Given the description of an element on the screen output the (x, y) to click on. 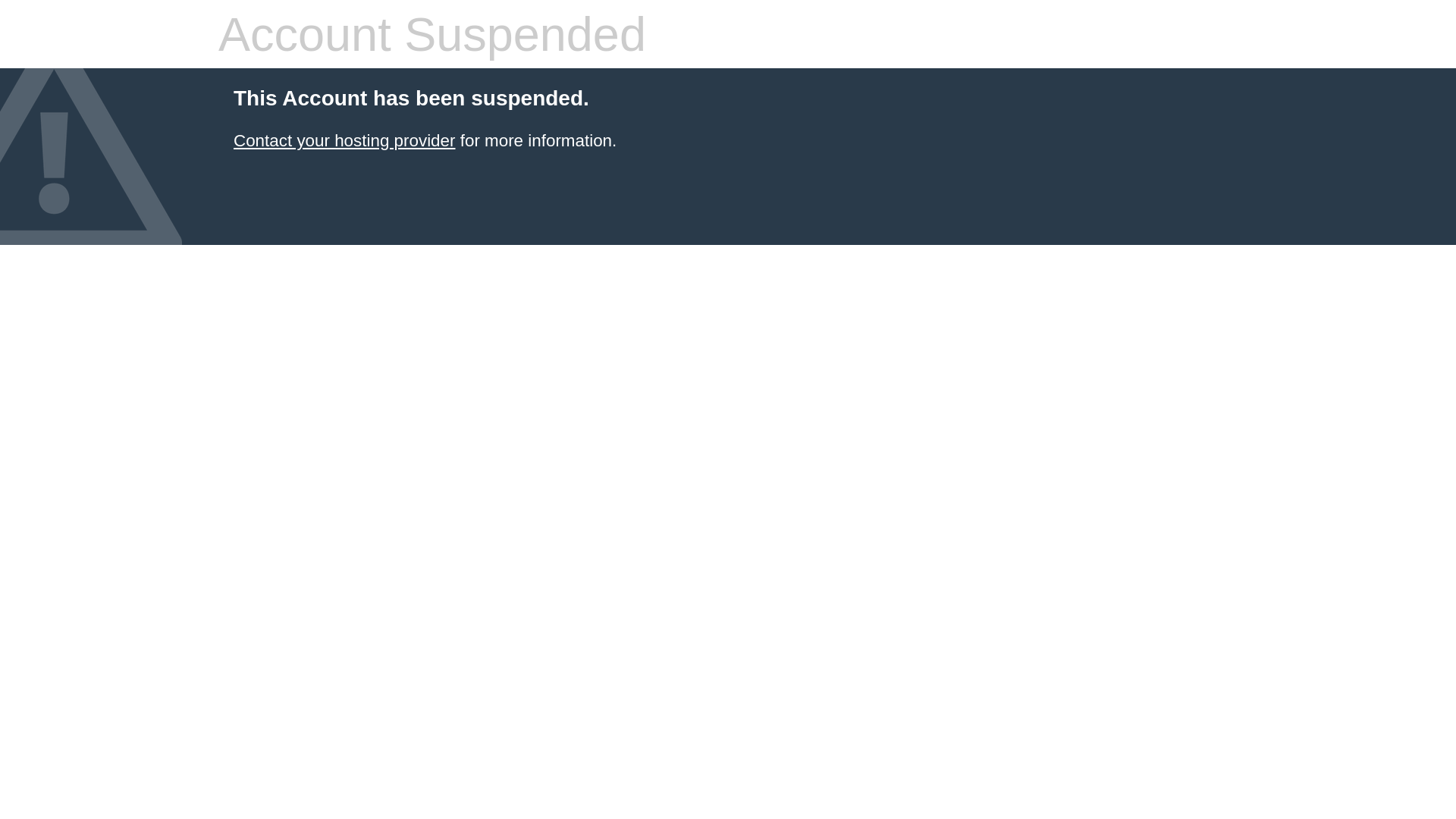
Contact your hosting provider Element type: text (344, 140)
